Given the description of an element on the screen output the (x, y) to click on. 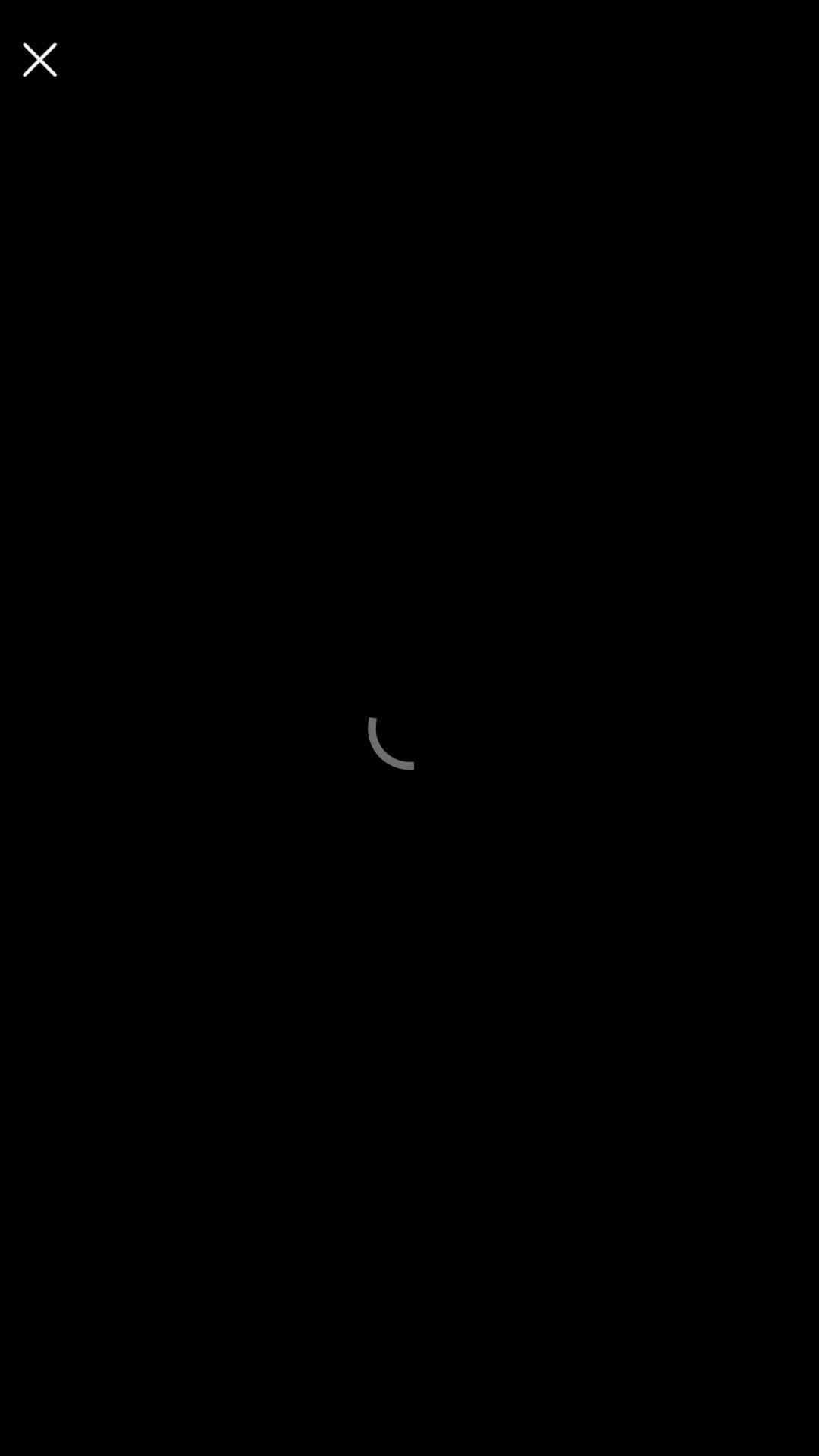
close screen (39, 59)
